Given the description of an element on the screen output the (x, y) to click on. 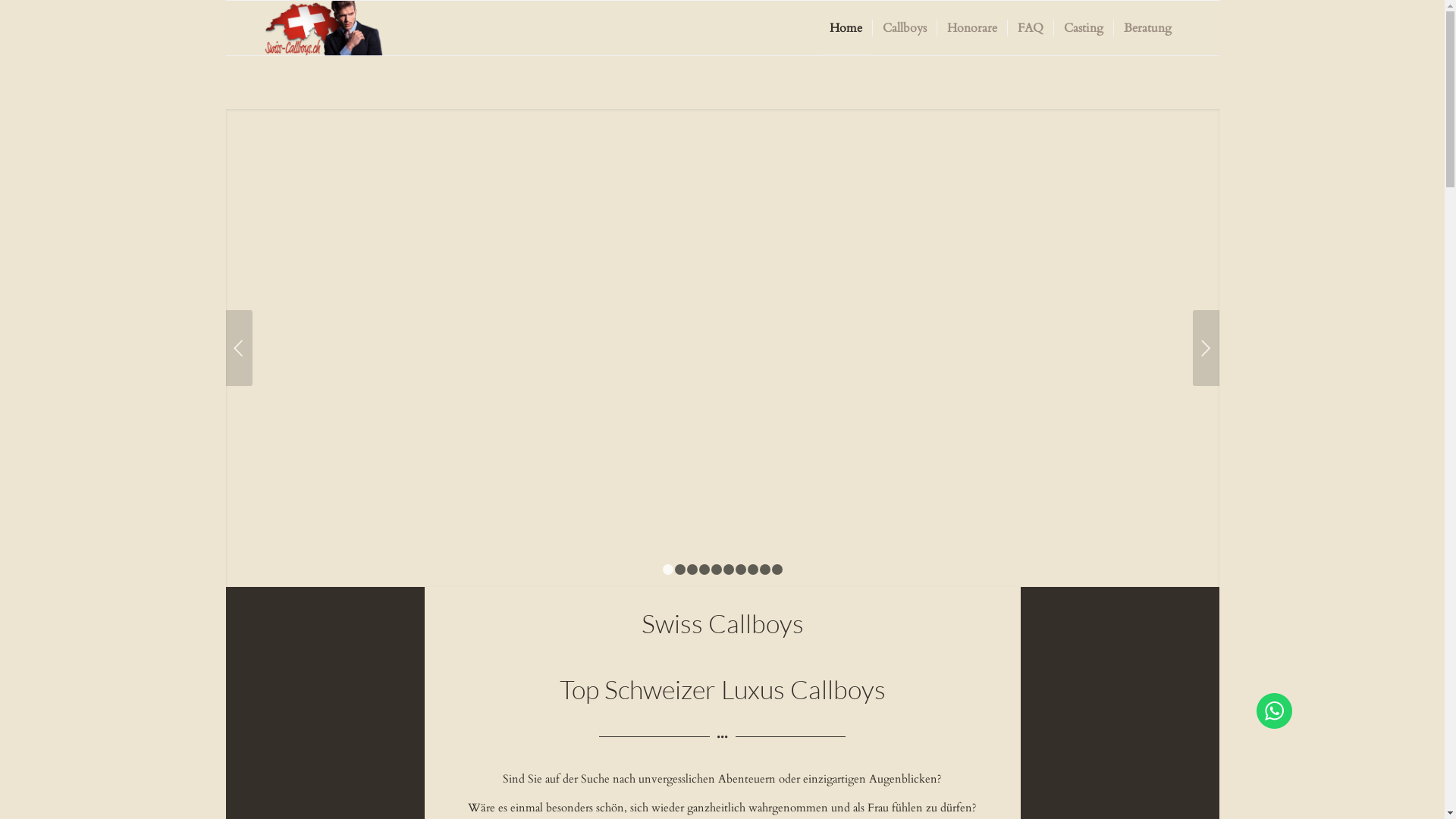
3 Element type: text (692, 569)
9 Element type: text (764, 569)
7 Element type: text (740, 569)
Beratung Element type: text (1147, 27)
2 Element type: text (679, 569)
8 Element type: text (752, 569)
10 Element type: text (776, 569)
Home Element type: text (845, 27)
Callboys Element type: text (904, 27)
5 Element type: text (716, 569)
Casting Element type: text (1082, 27)
Weiter Element type: text (1205, 347)
FAQ Element type: text (1030, 27)
4 Element type: text (704, 569)
1 Element type: text (667, 569)
6 Element type: text (728, 569)
Honorare Element type: text (970, 27)
